Given the description of an element on the screen output the (x, y) to click on. 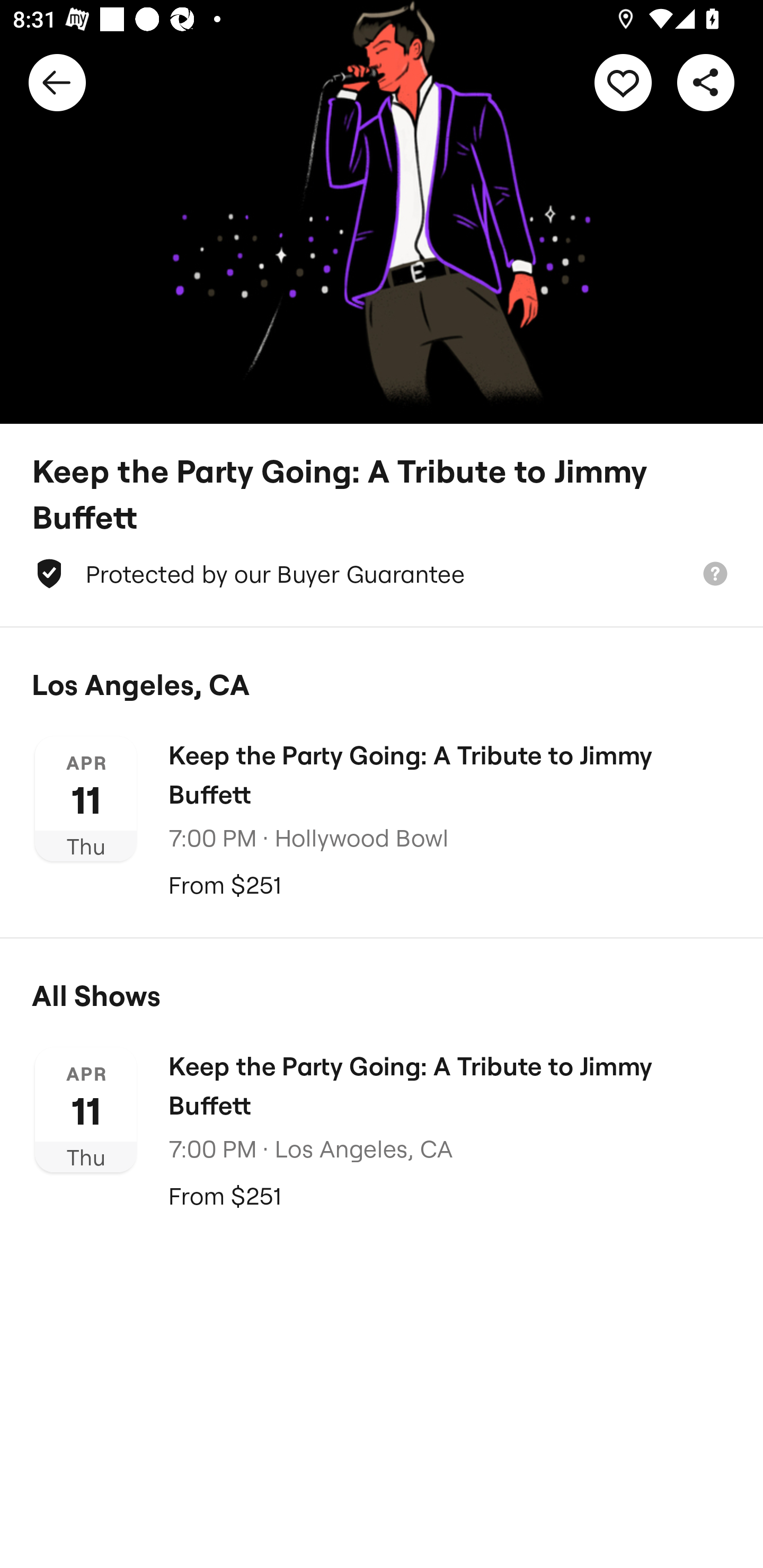
Back (57, 81)
Track this performer (623, 81)
Share this performer (705, 81)
Protected by our Buyer Guarantee Learn more (381, 573)
